Given the description of an element on the screen output the (x, y) to click on. 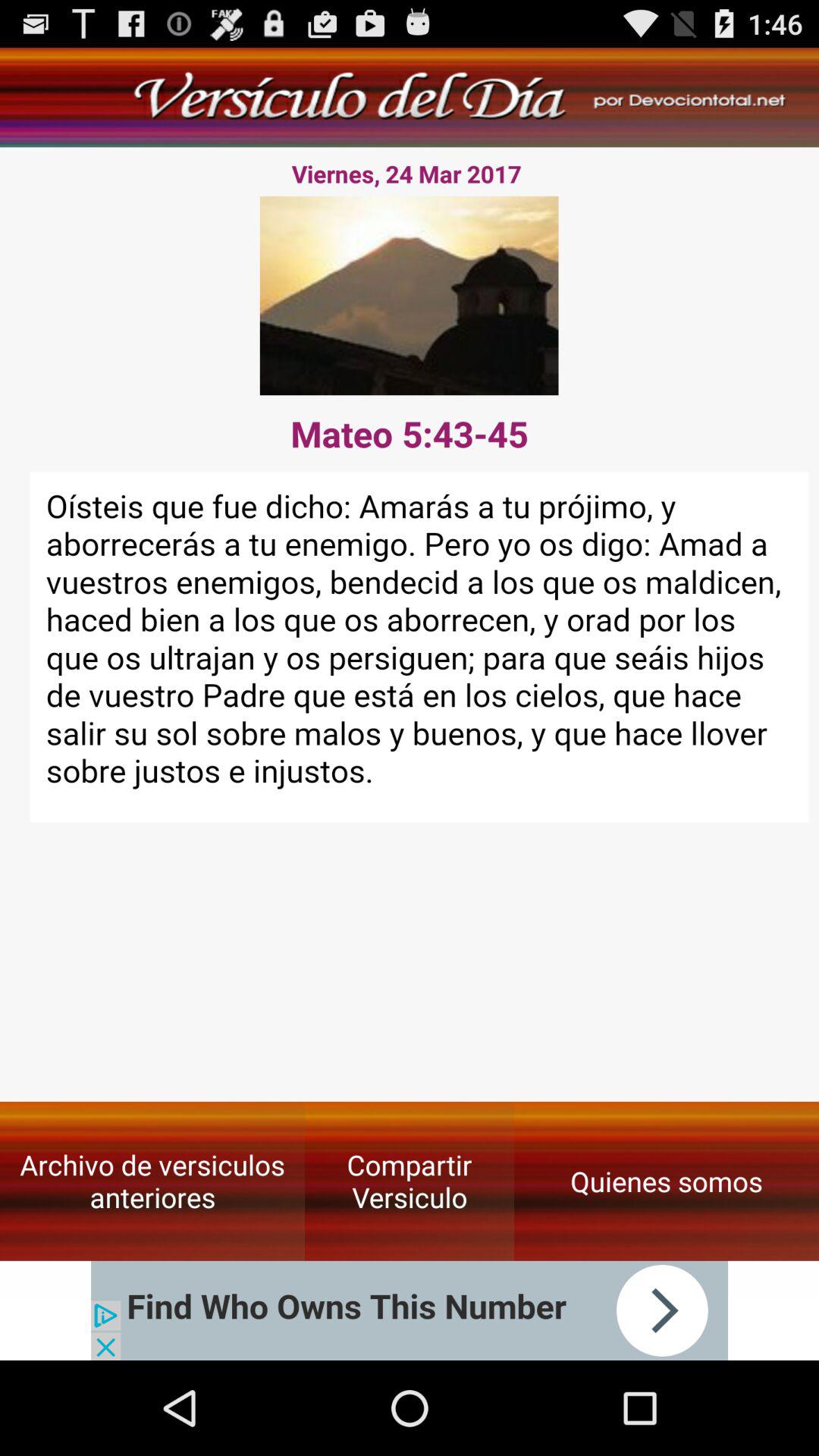
advertising (409, 1310)
